Given the description of an element on the screen output the (x, y) to click on. 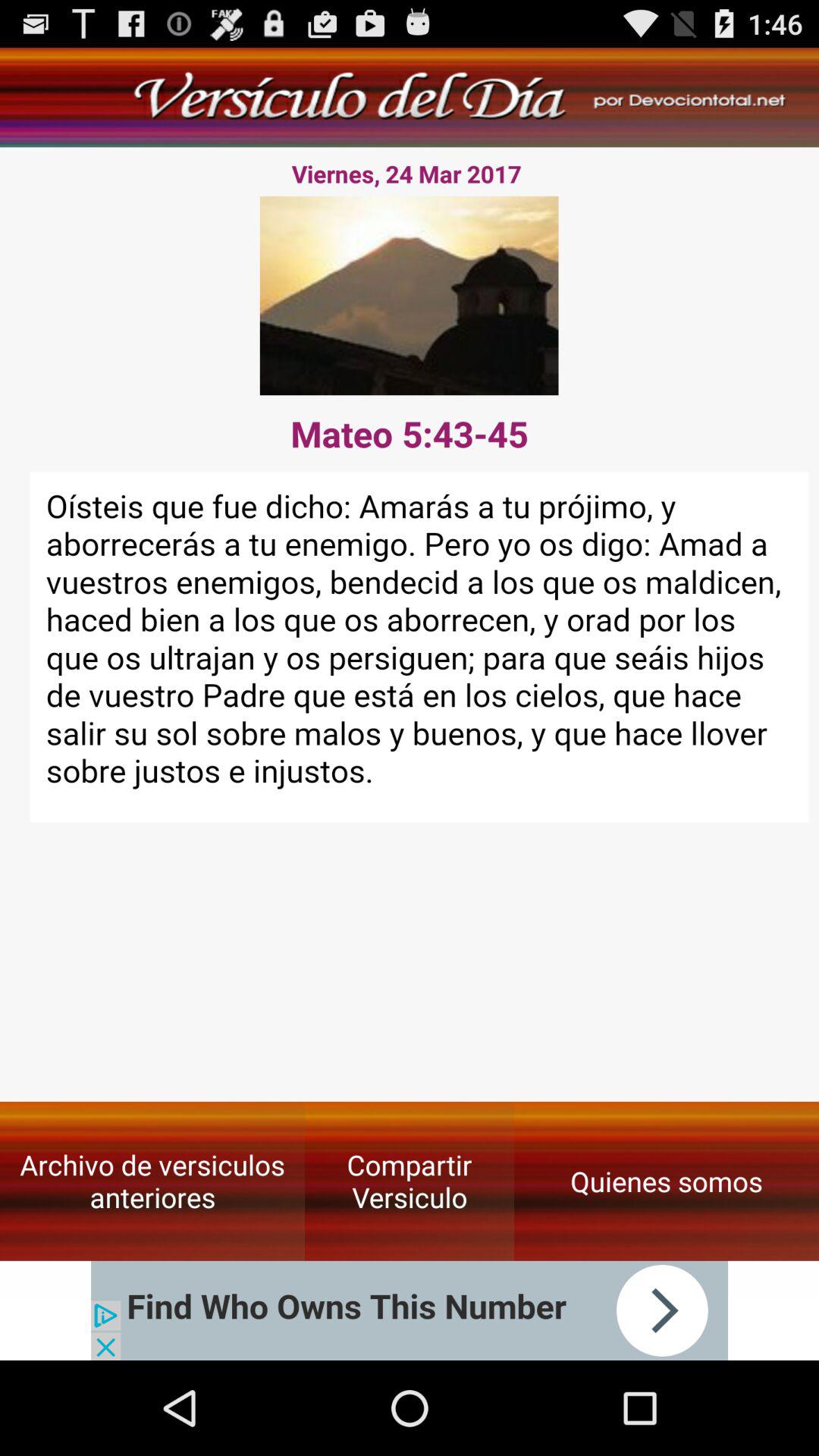
advertising (409, 1310)
